Given the description of an element on the screen output the (x, y) to click on. 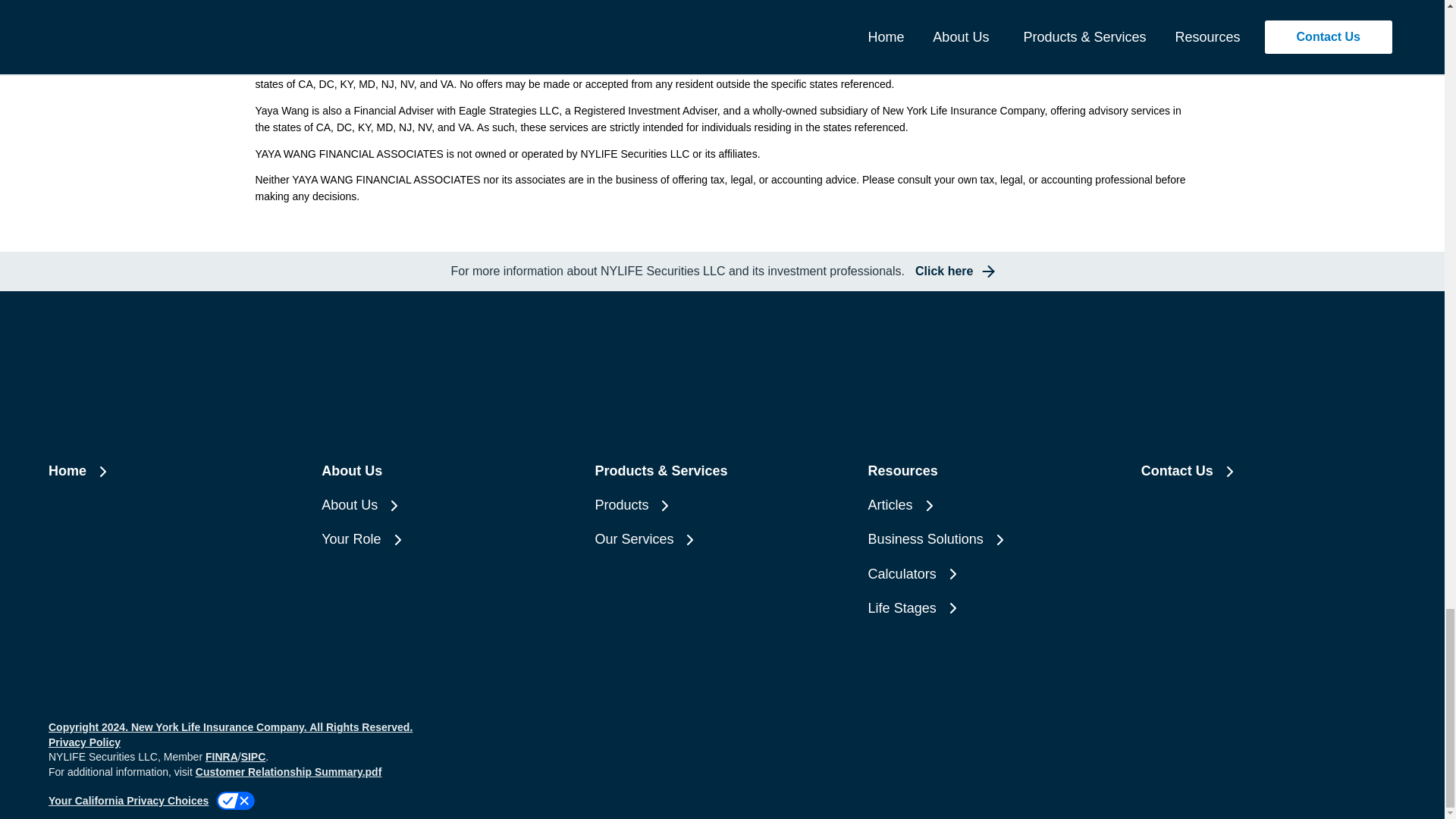
About Us (448, 505)
Calculators (994, 574)
Our Services (721, 538)
Your California Privacy Choices (152, 800)
SIPC (907, 50)
here (403, 29)
About Us (448, 505)
Click here (953, 271)
Home (175, 470)
Products (721, 505)
Your Role (448, 538)
Your Role (448, 538)
Resources (994, 470)
Home (175, 470)
